Given the description of an element on the screen output the (x, y) to click on. 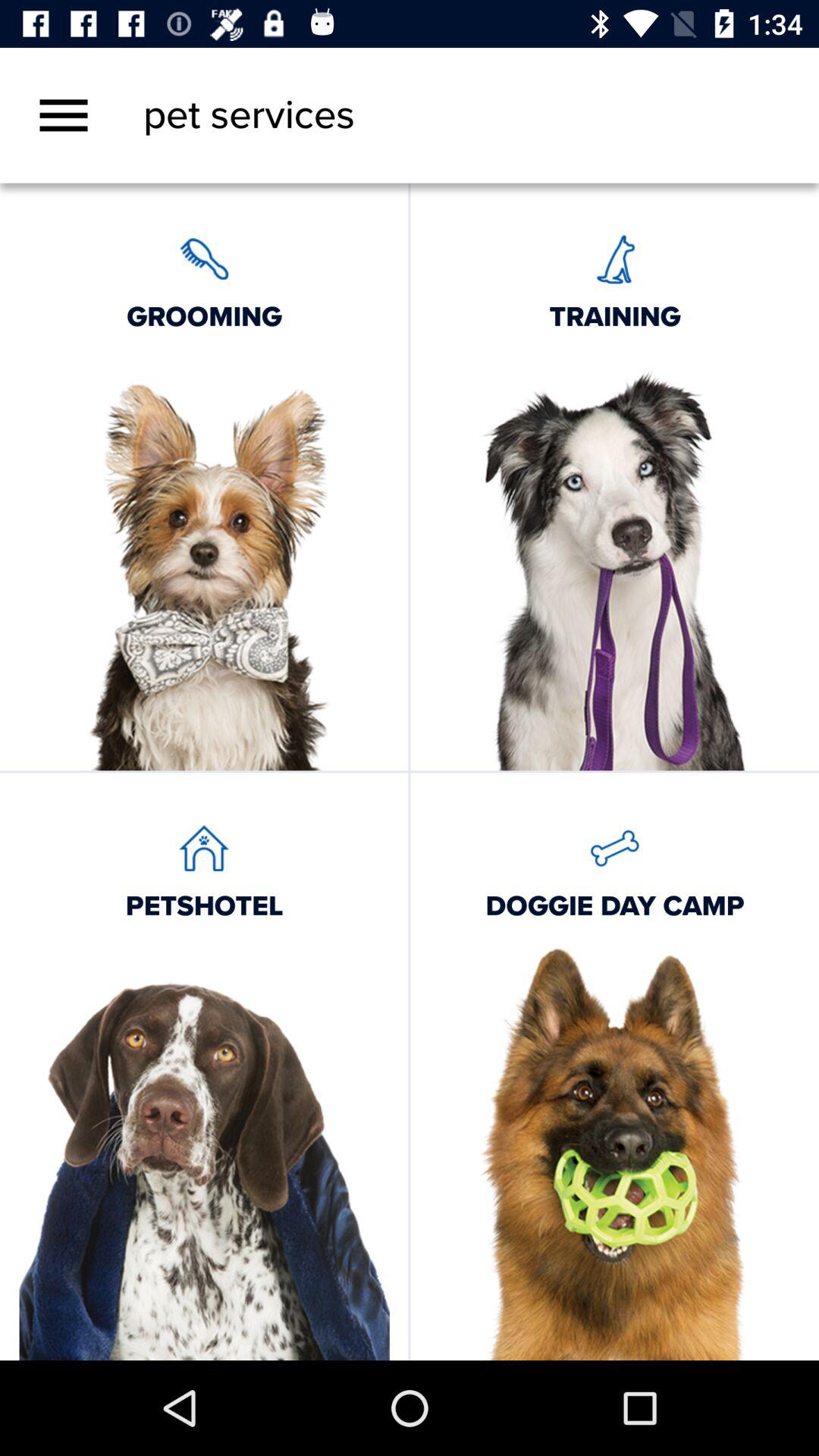
tap the icon above the grooming icon (63, 115)
